Given the description of an element on the screen output the (x, y) to click on. 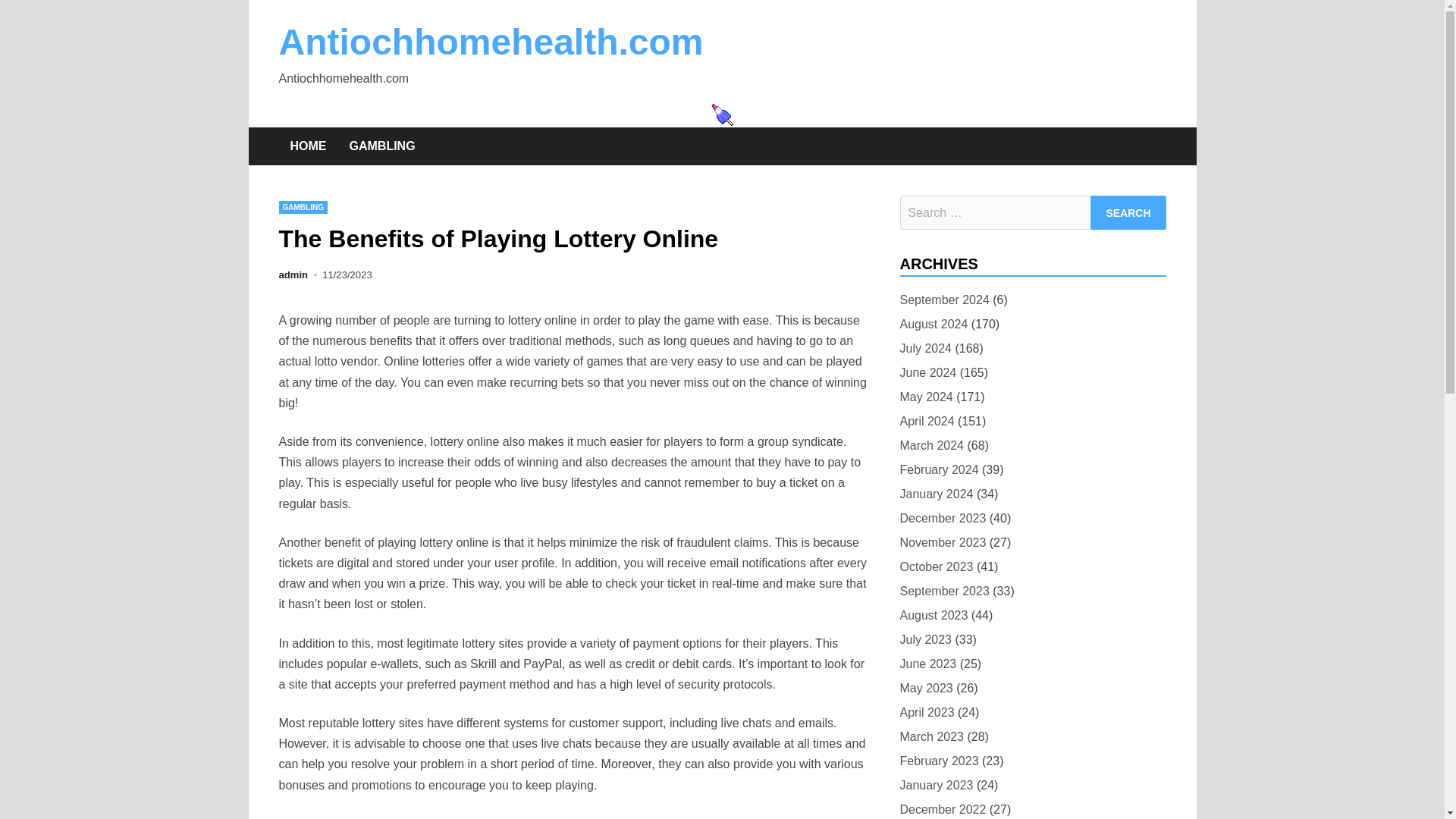
April 2024 (926, 421)
July 2023 (925, 639)
February 2023 (938, 761)
May 2023 (925, 688)
March 2024 (931, 444)
September 2023 (943, 590)
Search (1128, 212)
June 2023 (927, 663)
June 2024 (927, 372)
January 2024 (935, 494)
